Given the description of an element on the screen output the (x, y) to click on. 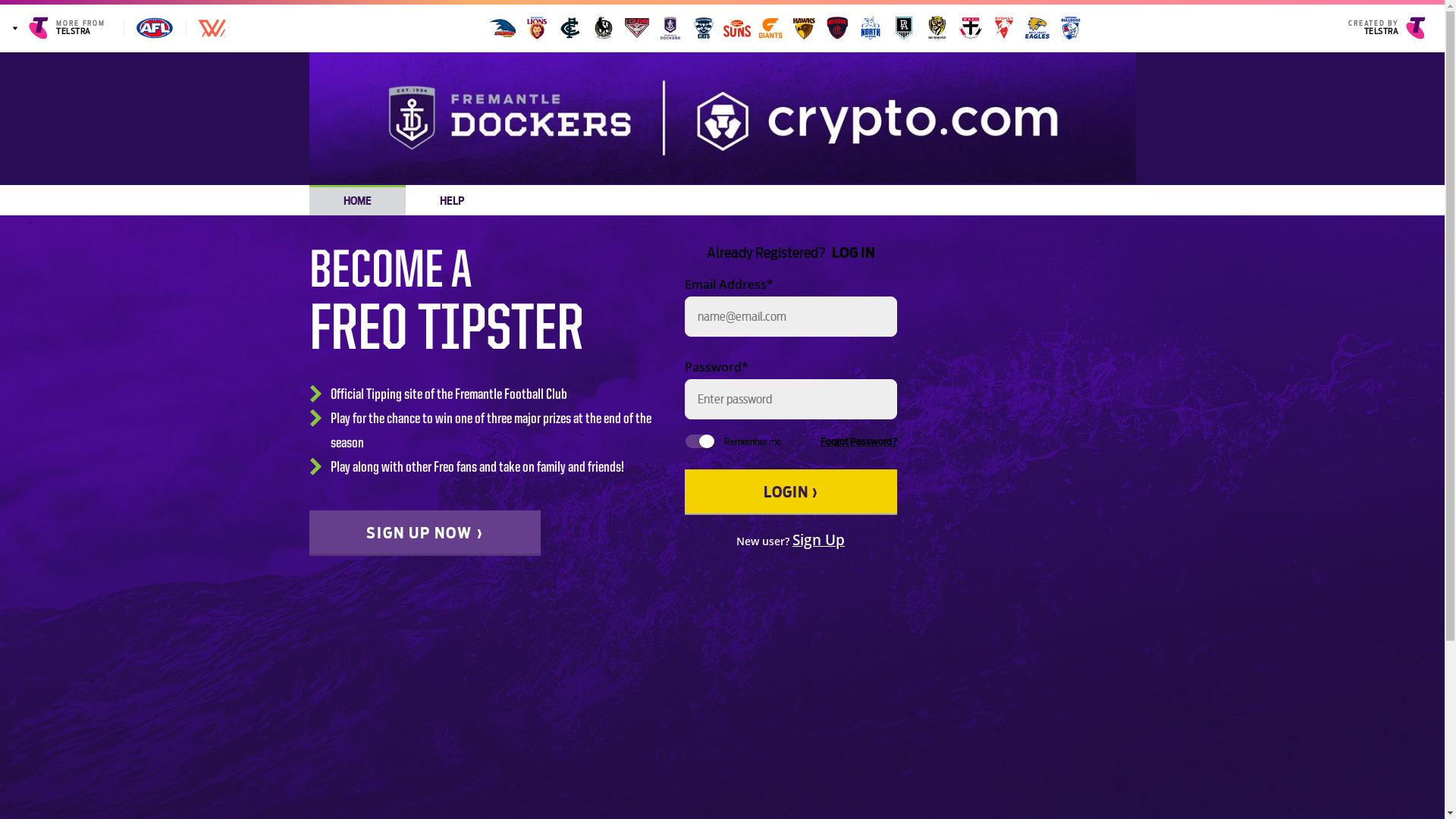
HELP Element type: text (451, 200)
Forgot Password? Element type: text (858, 442)
HOME Element type: text (357, 200)
MORE FROM
TELSTRA Element type: text (61, 27)
Sign Up Element type: text (818, 539)
CREATED BY
TELSTRA Element type: text (1391, 27)
